Given the description of an element on the screen output the (x, y) to click on. 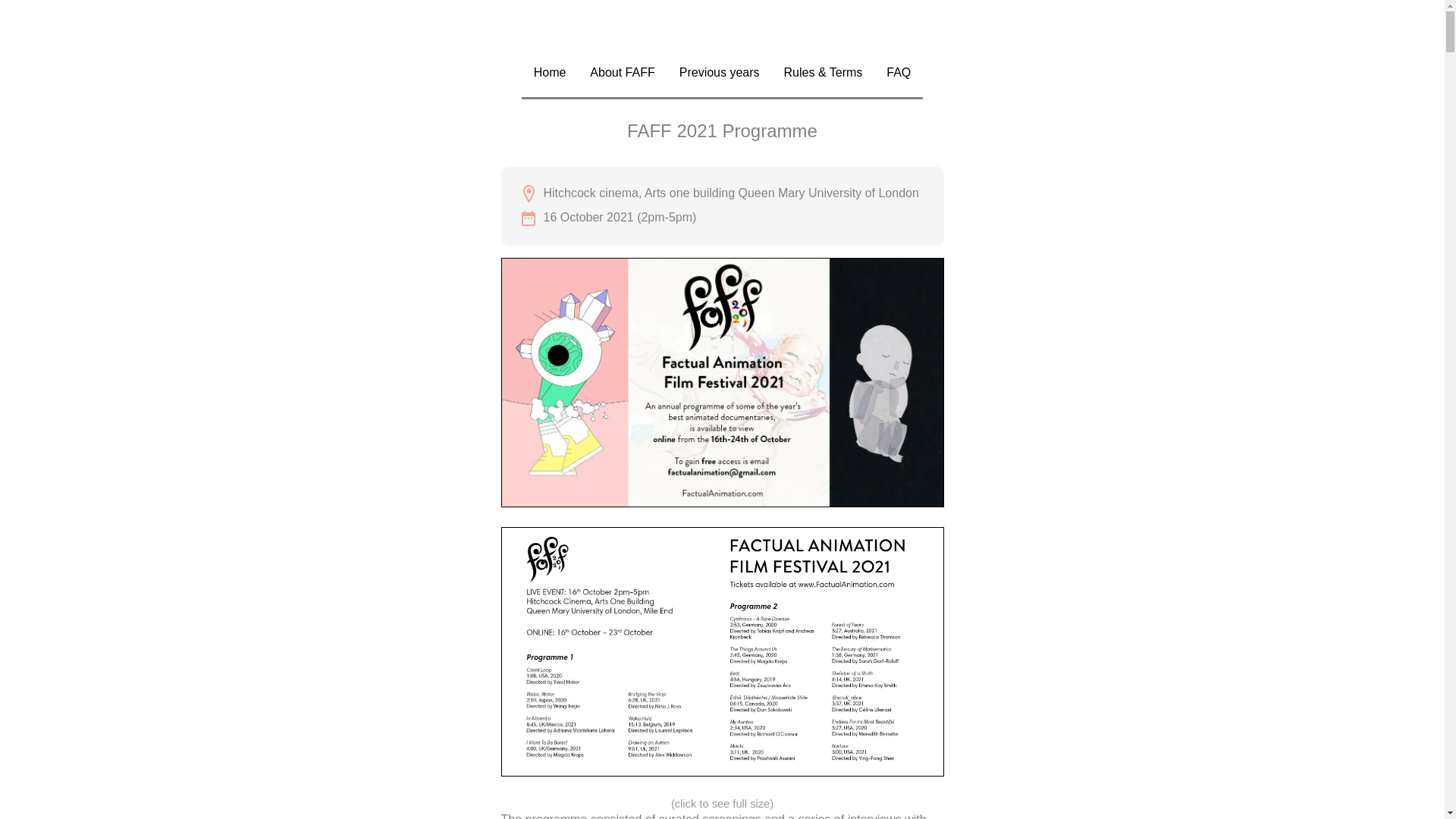
FAQ (899, 72)
Home (549, 72)
Previous years (718, 72)
About FAFF (622, 72)
